Given the description of an element on the screen output the (x, y) to click on. 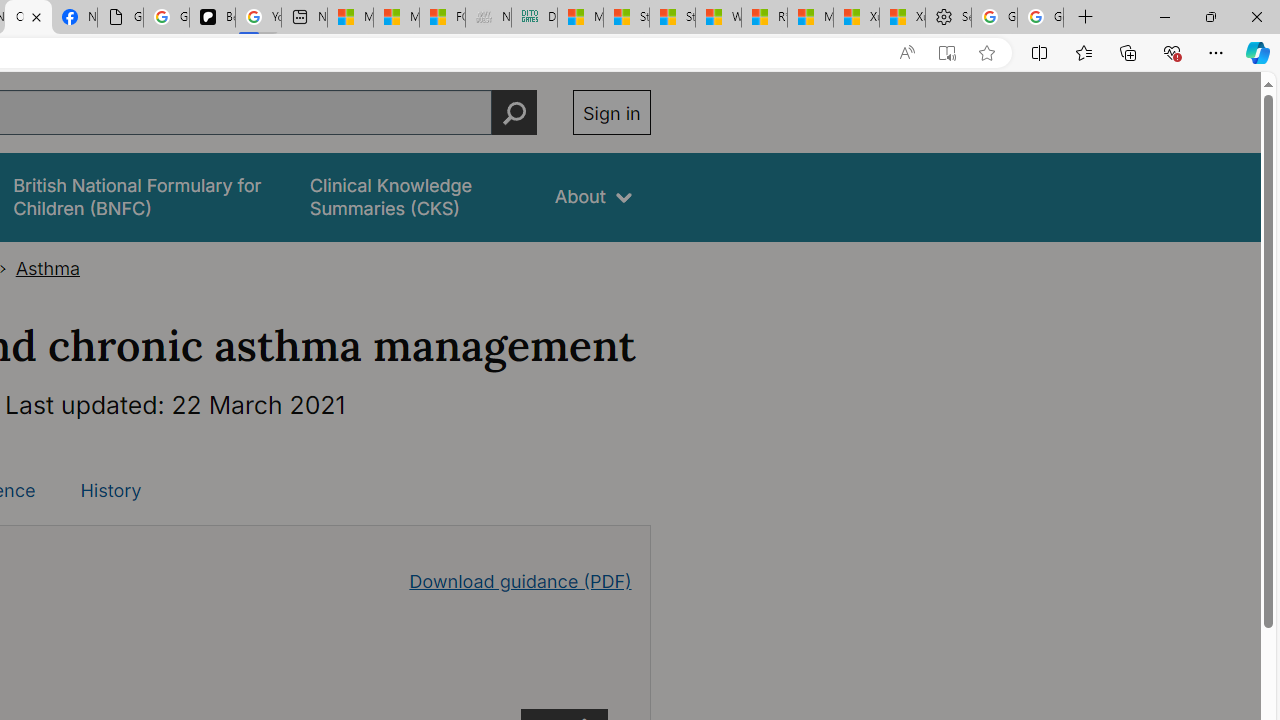
Perform search (514, 112)
History (110, 490)
Navy Quest (487, 17)
Google Analytics Opt-out Browser Add-on Download Page (120, 17)
DITOGAMES AG Imprint (534, 17)
Asthma (47, 268)
Enter Immersive Reader (F9) (946, 53)
FOX News - MSN (441, 17)
Sign in (611, 112)
About (593, 196)
false (413, 196)
